Given the description of an element on the screen output the (x, y) to click on. 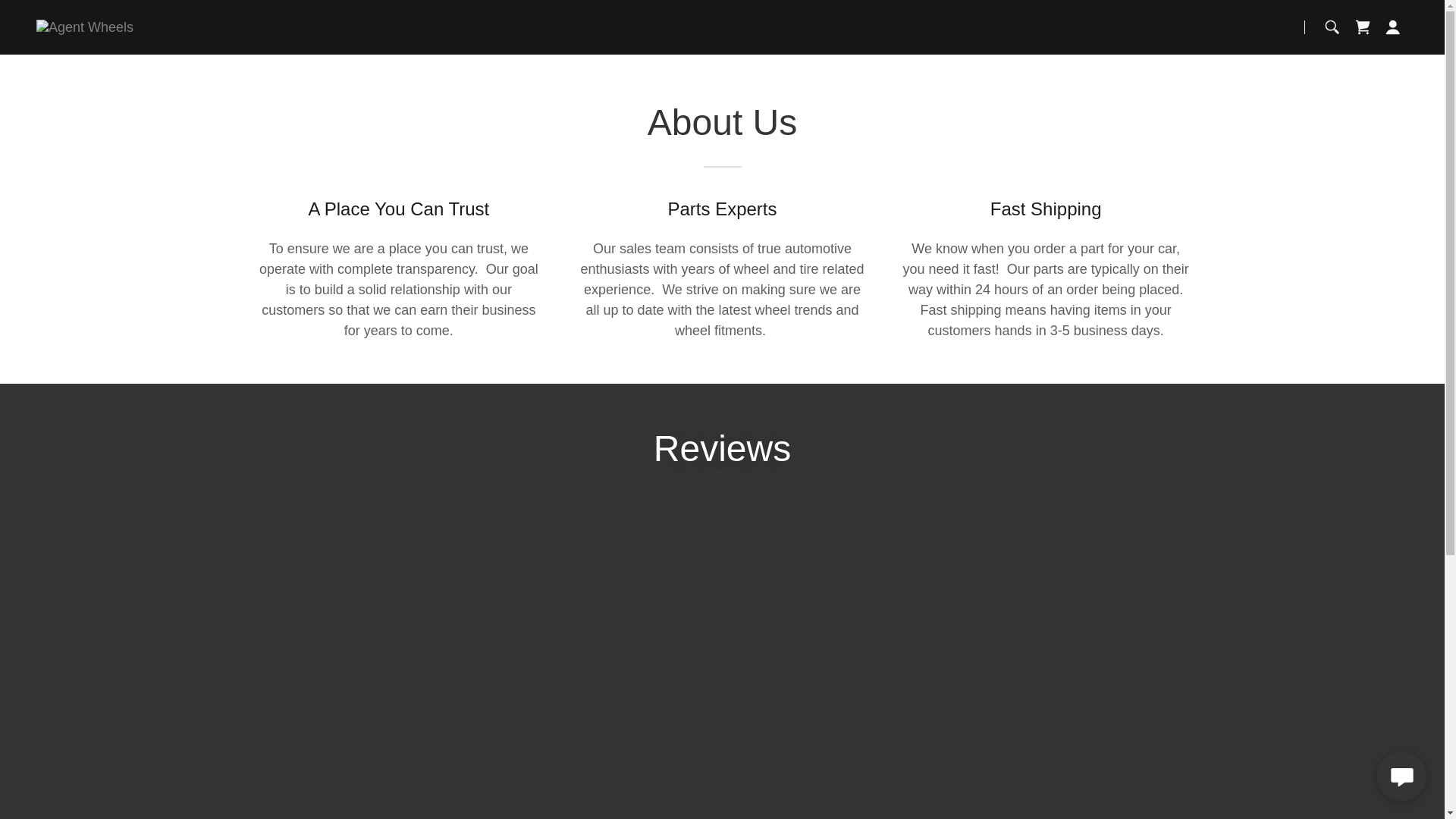
Agent  Wheels (84, 26)
